Given the description of an element on the screen output the (x, y) to click on. 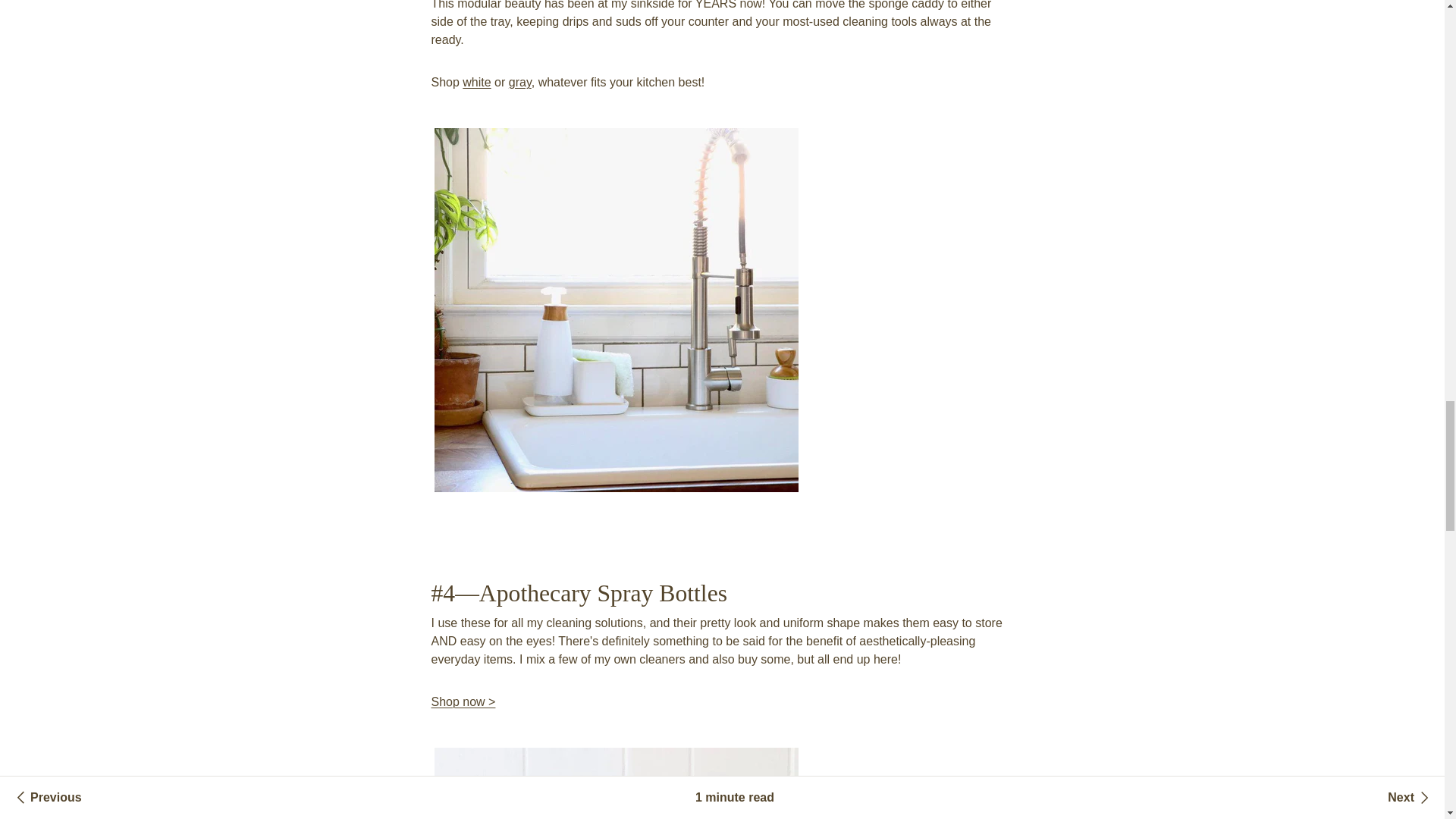
Apothecary Spray Bottles (462, 701)
Stash Caddy - White (476, 82)
Stash Caddy - Gray (519, 82)
